Given the description of an element on the screen output the (x, y) to click on. 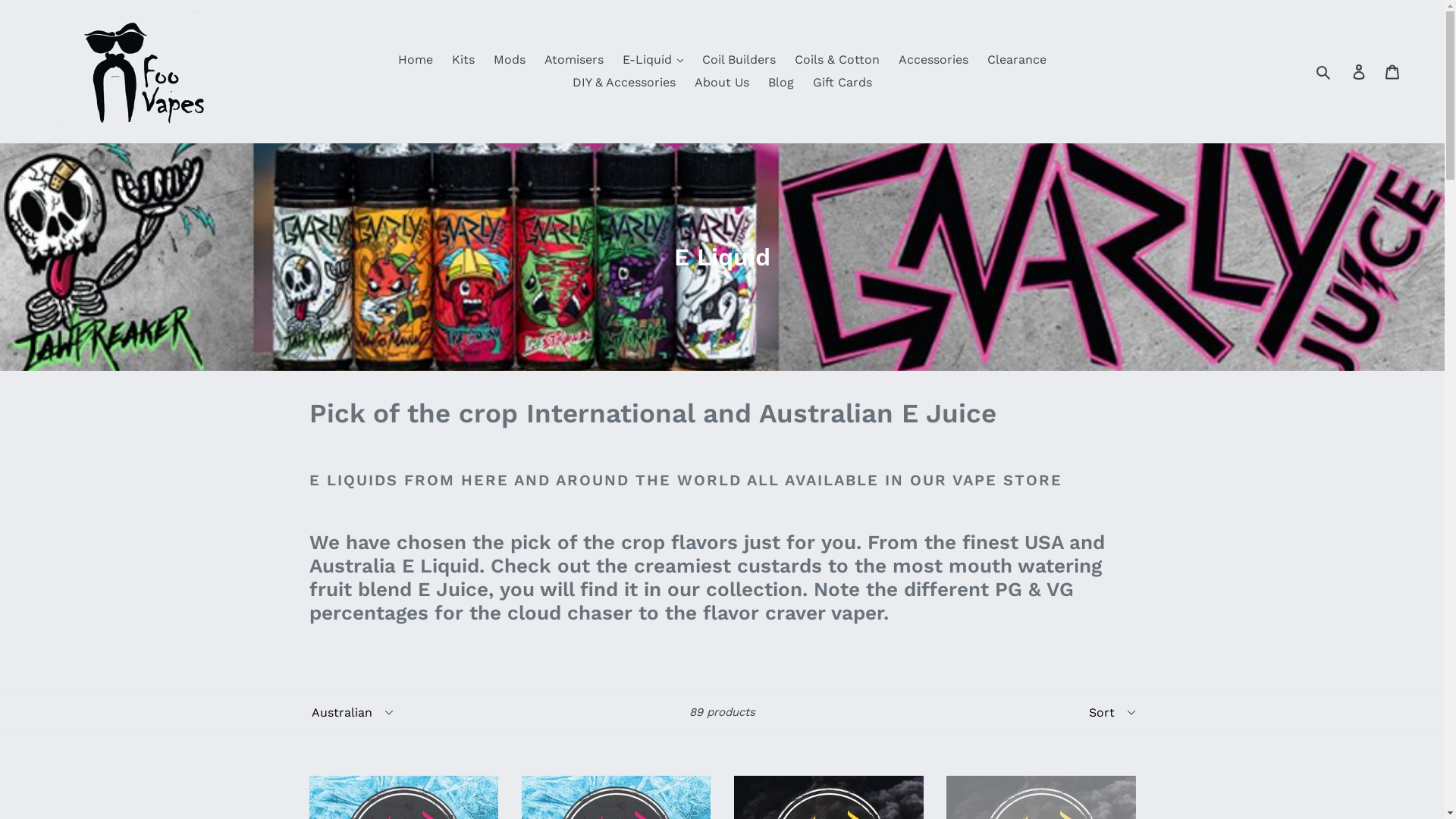
Atomisers Element type: text (573, 59)
Submit Element type: text (1324, 70)
Home Element type: text (415, 59)
Gift Cards Element type: text (842, 82)
Cart Element type: text (1393, 71)
Blog Element type: text (780, 82)
Coils & Cotton Element type: text (837, 59)
Accessories Element type: text (933, 59)
About Us Element type: text (721, 82)
DIY & Accessories Element type: text (623, 82)
Clearance Element type: text (1016, 59)
Kits Element type: text (463, 59)
Coil Builders Element type: text (738, 59)
Log in Element type: text (1360, 71)
Mods Element type: text (509, 59)
